Given the description of an element on the screen output the (x, y) to click on. 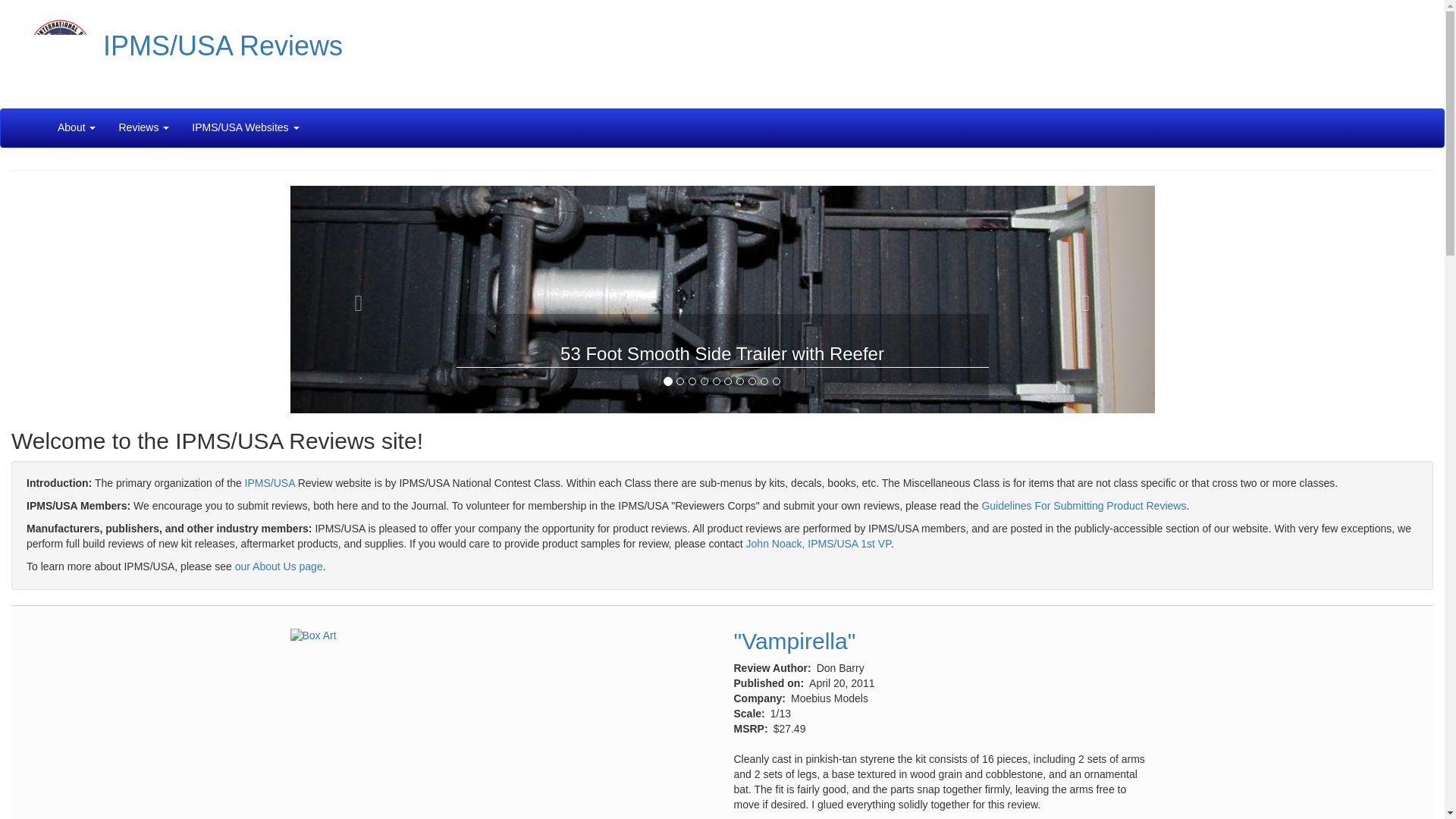
Search (322, 119)
our About Us page (278, 566)
Reviews (142, 127)
Guidelines For Submitting Product Reviews (1083, 505)
About (77, 127)
